Given the description of an element on the screen output the (x, y) to click on. 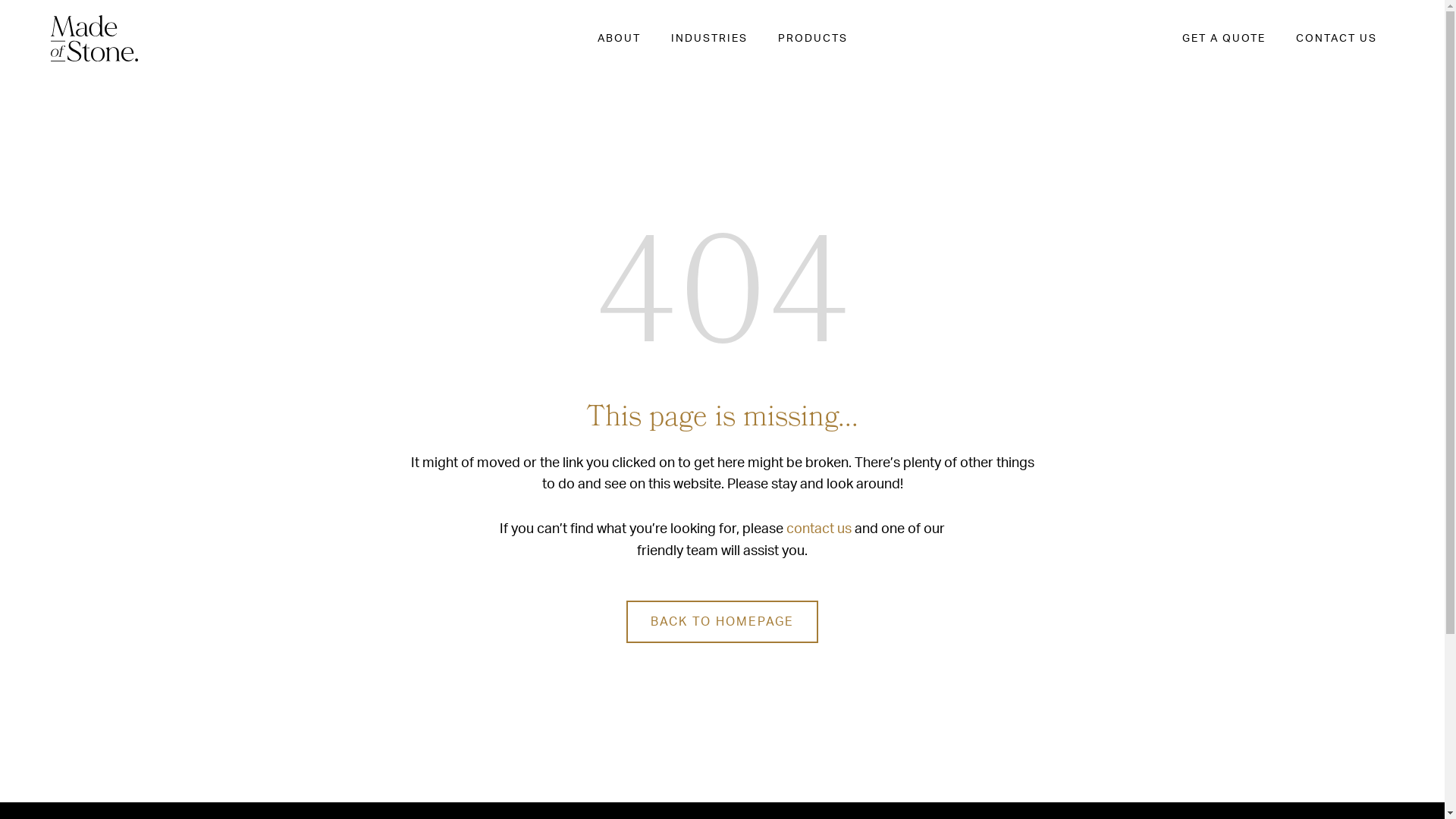
PRODUCTS Element type: text (812, 38)
ABOUT Element type: text (618, 38)
GET A QUOTE Element type: text (1223, 38)
BACK TO HOMEPAGE Element type: text (722, 621)
CONTACT US Element type: text (1336, 38)
contact us Element type: text (818, 529)
INDUSTRIES Element type: text (708, 38)
